Given the description of an element on the screen output the (x, y) to click on. 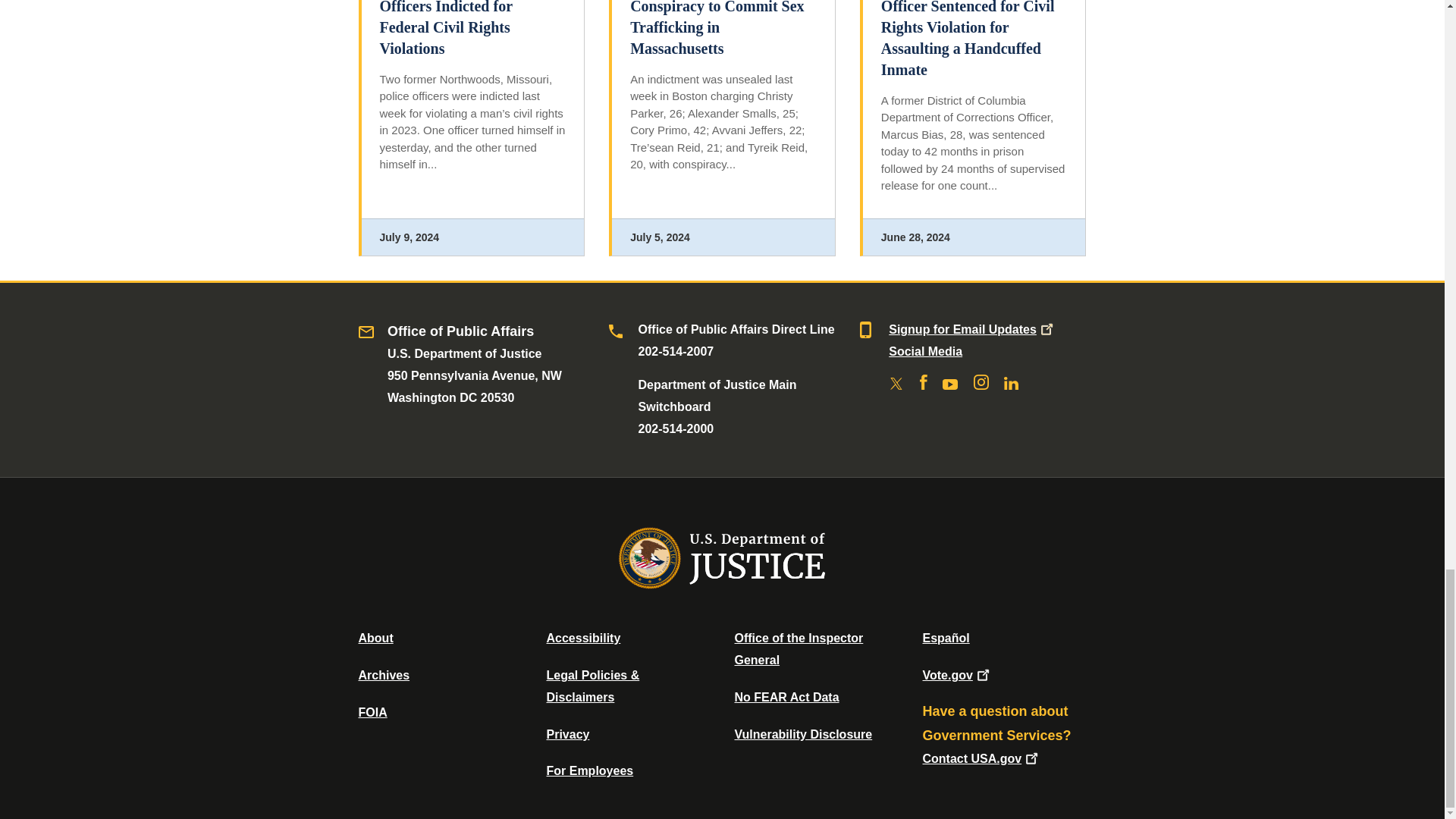
For Employees (589, 770)
Legal Policies and Disclaimers (592, 686)
Department of Justice Archive (383, 675)
Accessibility Statement (583, 637)
About DOJ (375, 637)
Data Posted Pursuant To The No Fear Act (785, 697)
Office of Information Policy (372, 712)
